Given the description of an element on the screen output the (x, y) to click on. 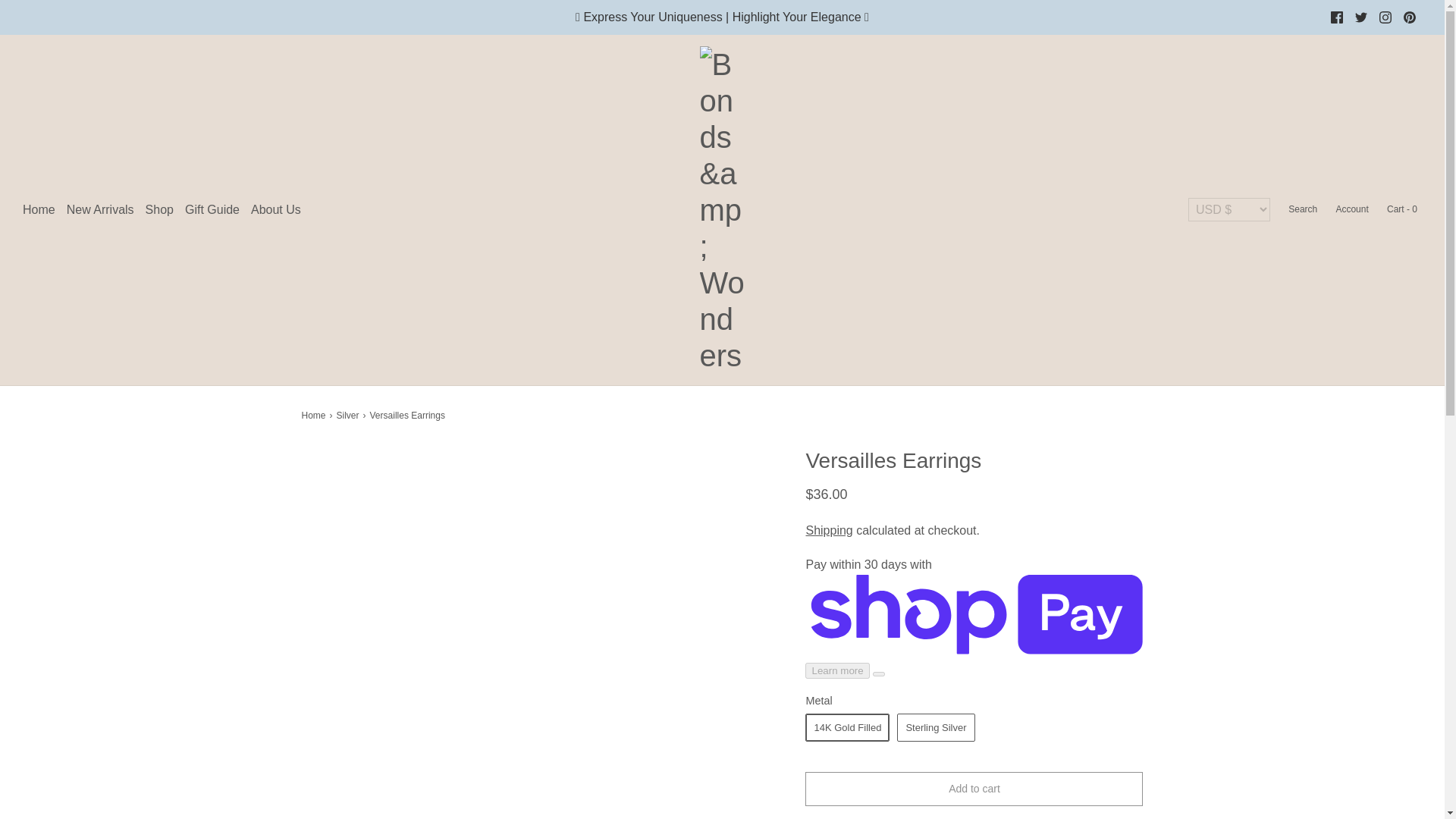
Log in (1350, 209)
Facebook icon (1336, 16)
Twitter icon (1361, 16)
Instagram icon (1384, 17)
Facebook icon (1336, 17)
Cart (1401, 209)
Instagram icon (1385, 16)
Pinterest icon (1409, 17)
Pinterest icon (1409, 16)
Twitter icon (1361, 17)
Search (1301, 209)
Back to the frontpage (315, 415)
